Given the description of an element on the screen output the (x, y) to click on. 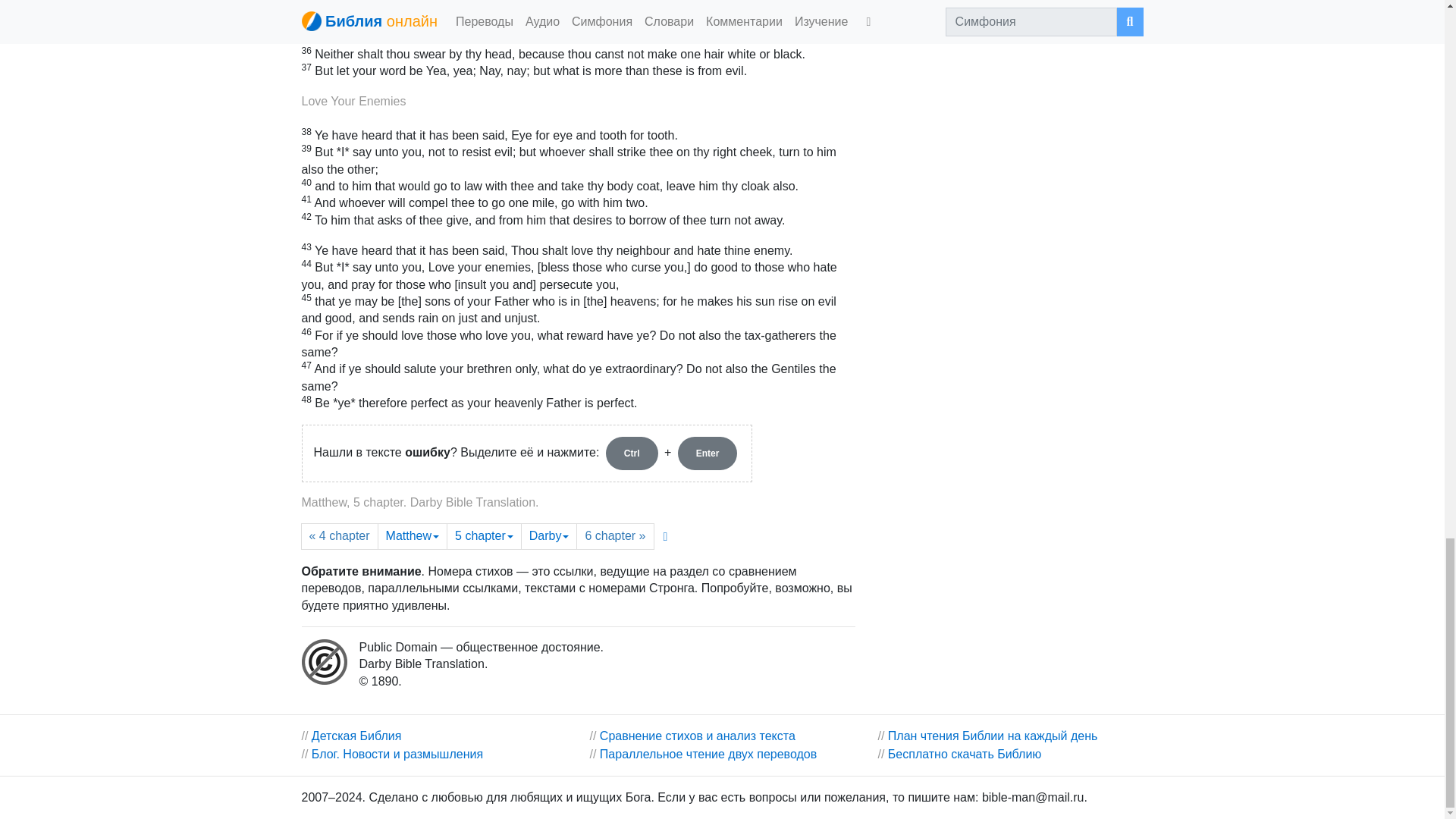
Matthew (411, 536)
Darby (549, 536)
5 chapter (483, 536)
